Given the description of an element on the screen output the (x, y) to click on. 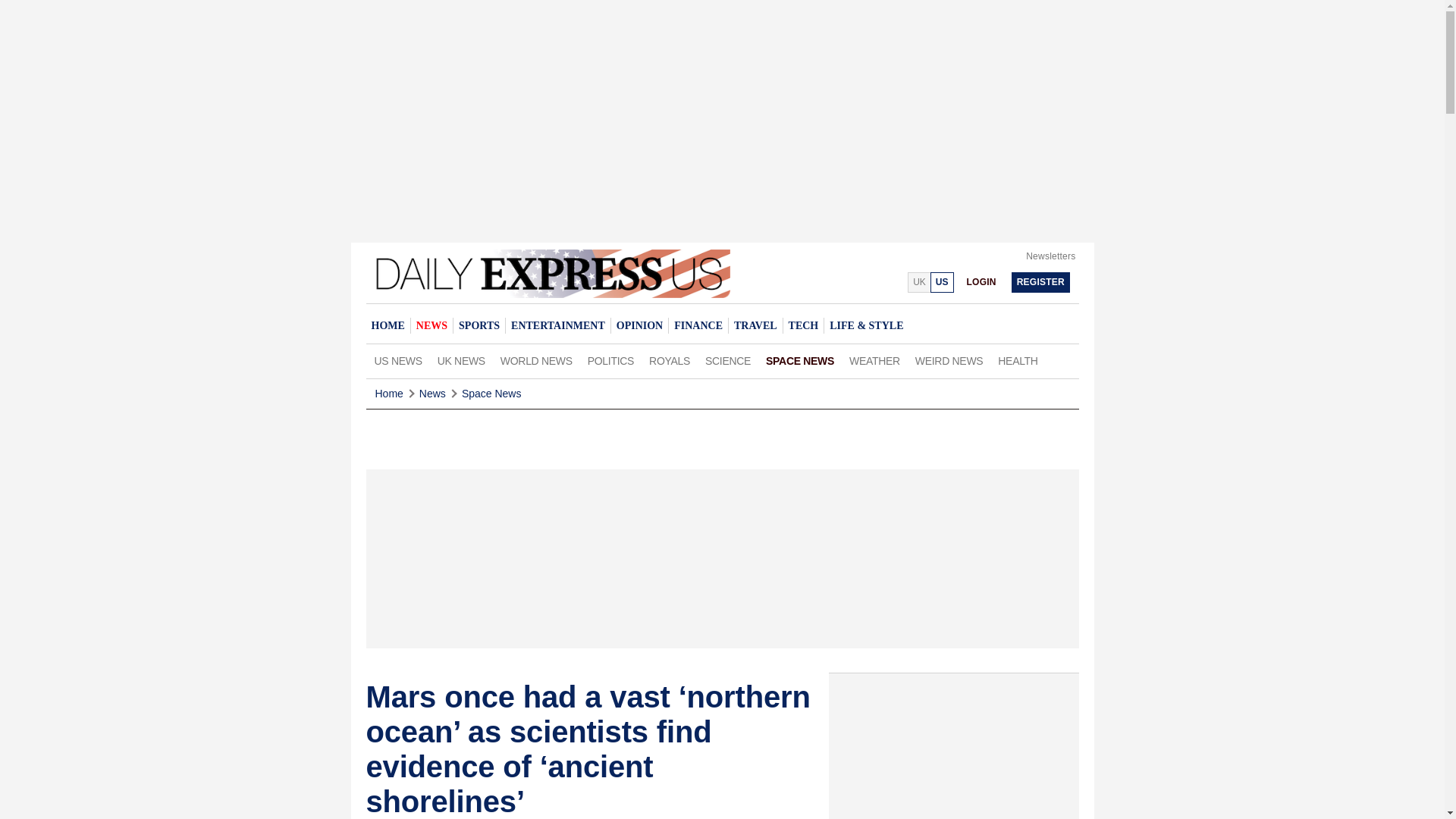
OPINION (639, 325)
Space News (491, 393)
Find us on Facebook (856, 281)
the-express.com (941, 281)
HEALTH (1017, 361)
News (432, 393)
HOME (387, 325)
Home (388, 393)
POLITICS (610, 361)
ENTERTAINMENT (557, 325)
UK (918, 281)
US NEWS (397, 361)
FINANCE (698, 325)
WORLD NEWS (536, 361)
Newsletters (1050, 256)
